Given the description of an element on the screen output the (x, y) to click on. 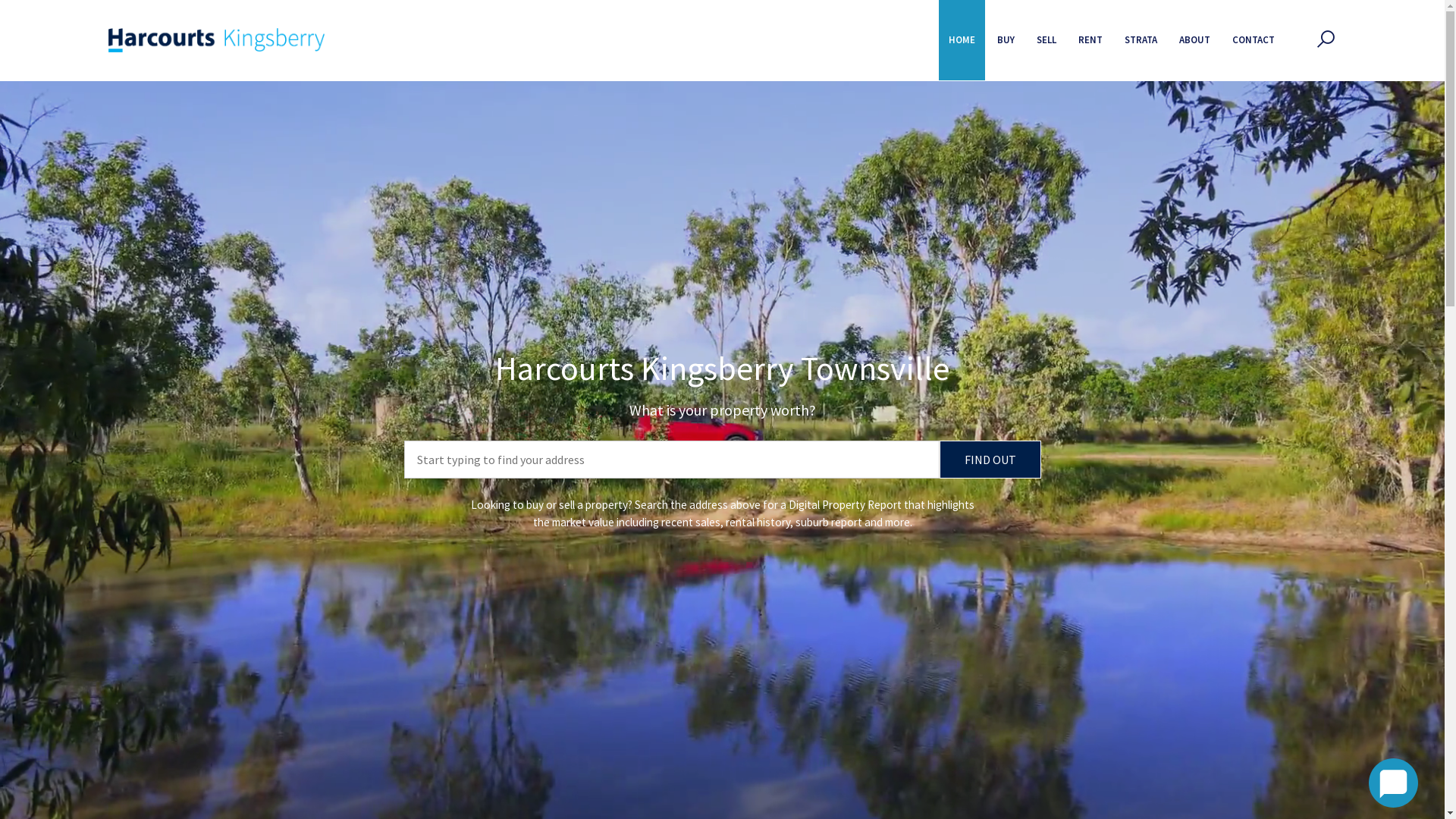
Search Element type: text (953, 133)
RENT Element type: text (1090, 40)
BUY Element type: text (1005, 40)
HOME Element type: text (961, 40)
STRATA Element type: text (1140, 40)
FIND OUT Element type: text (989, 459)
SELL Element type: text (1046, 40)
ABOUT Element type: text (1194, 40)
CONTACT Element type: text (1253, 40)
